Given the description of an element on the screen output the (x, y) to click on. 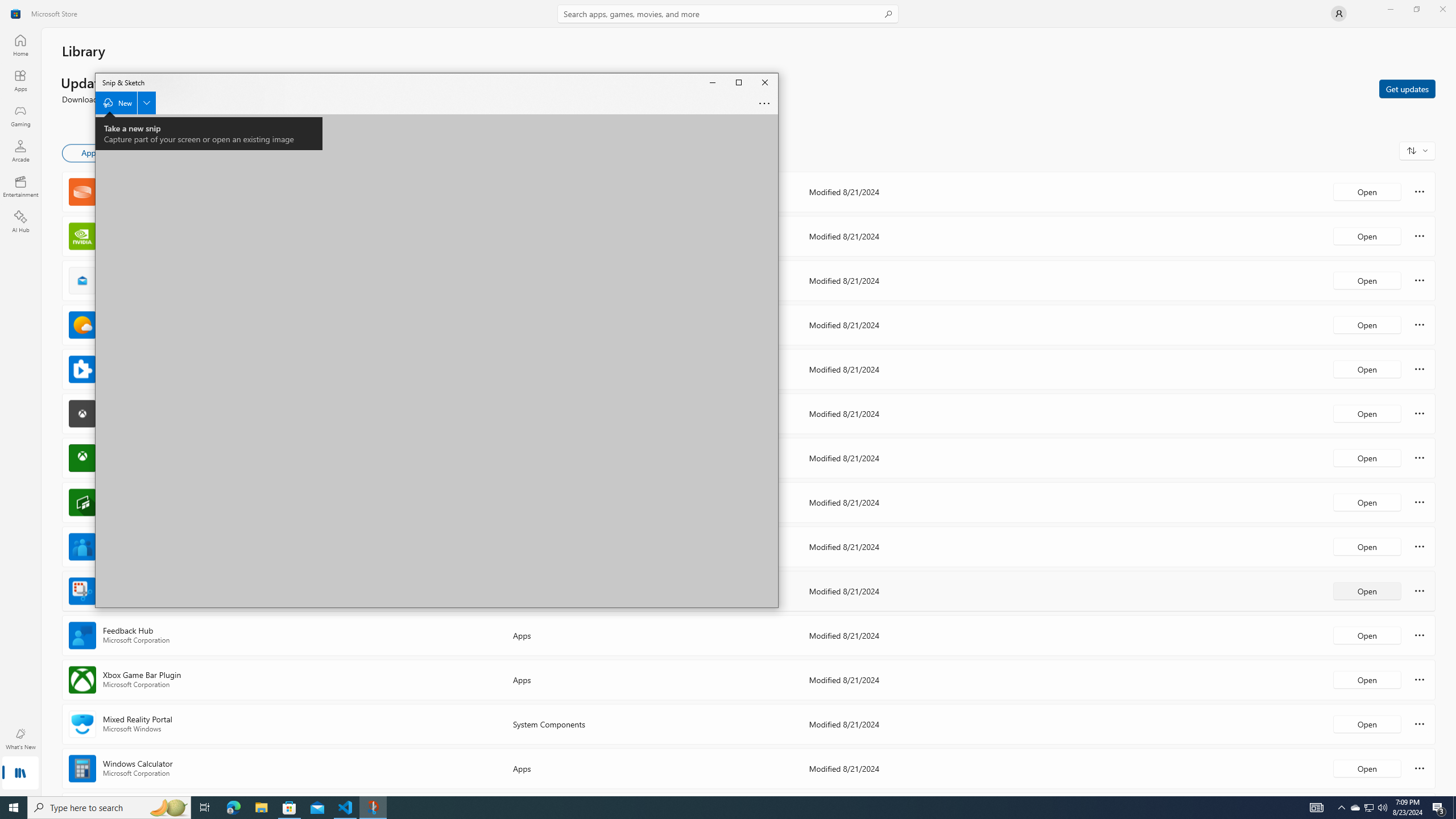
Show desktop (1355, 807)
Type here to search (1454, 807)
Open (108, 807)
Search (1366, 768)
Apps (727, 13)
Action Center, 3 new notifications (20, 80)
Minimize Snip & Sketch (1439, 807)
Start (711, 82)
Home (13, 807)
Entertainment (20, 45)
Notification Chevron (20, 185)
Restore Microsoft Store (1341, 807)
Library (1416, 9)
